Given the description of an element on the screen output the (x, y) to click on. 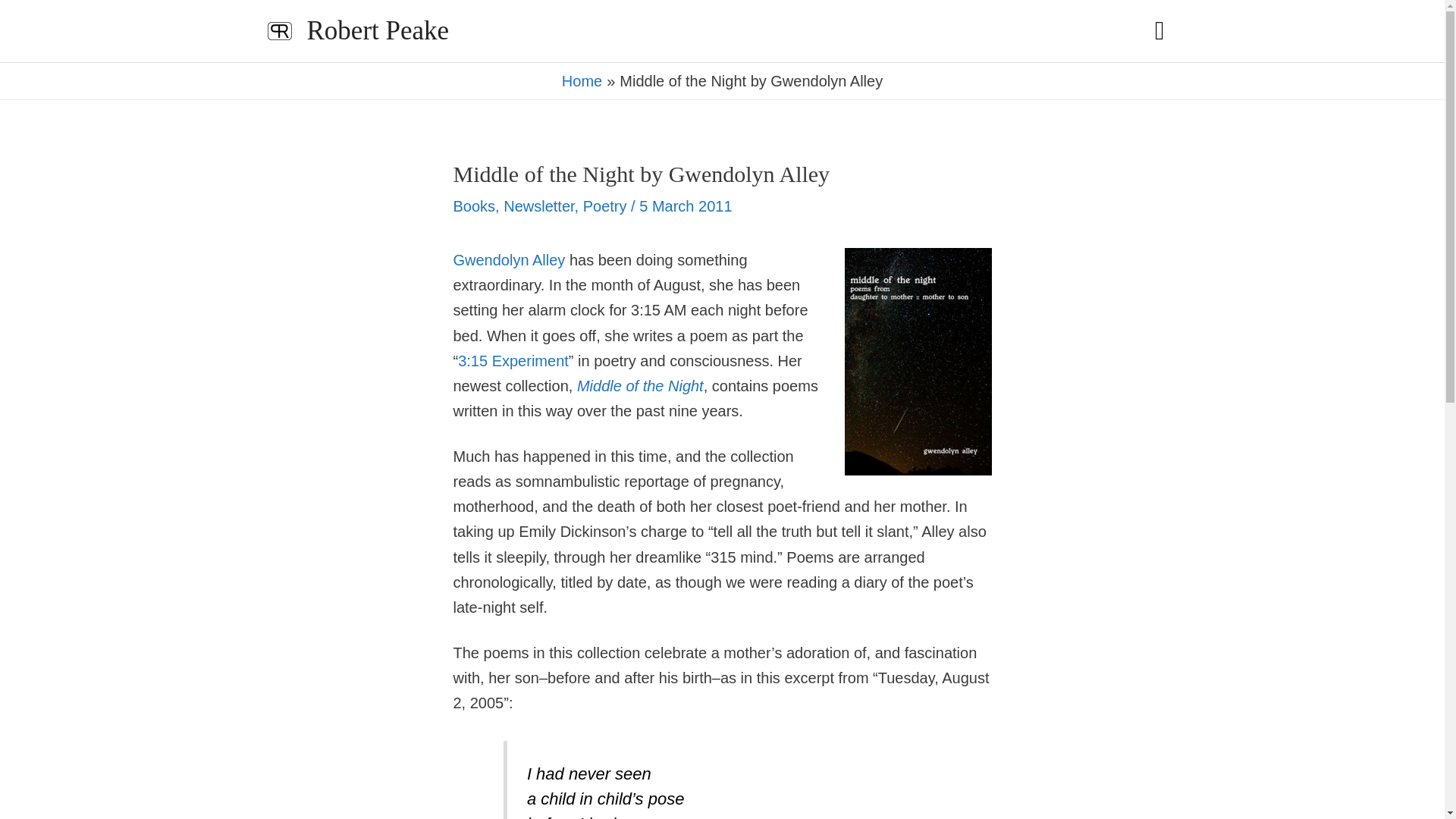
Home (582, 80)
Robert Peake (376, 30)
Middle of the Night (639, 385)
Gwendolyn Alley (509, 259)
Poetry (605, 206)
Books (474, 206)
3:15 Experiment (513, 360)
Newsletter (538, 206)
